Given the description of an element on the screen output the (x, y) to click on. 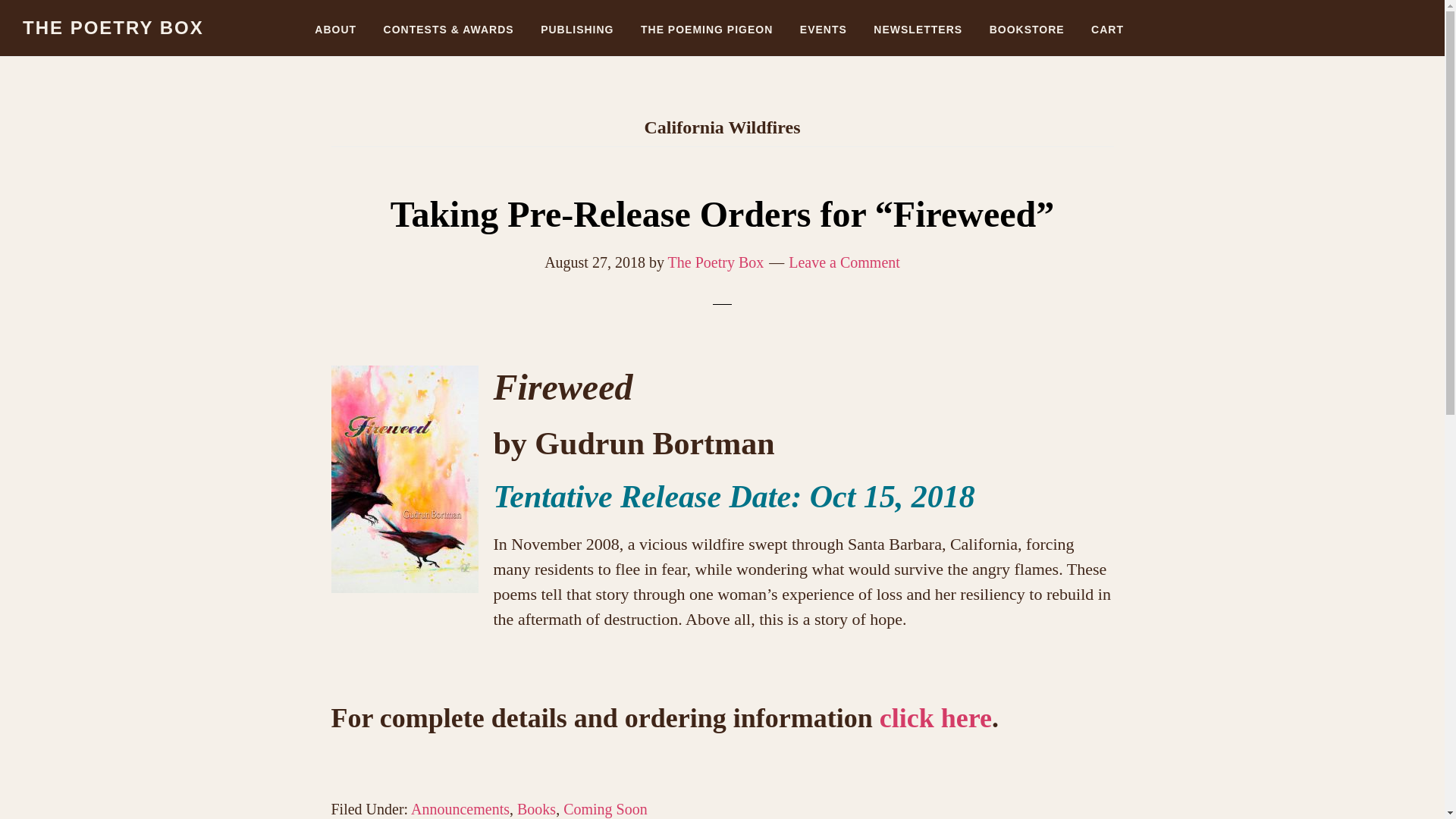
PUBLISHING (576, 22)
BOOKSTORE (1026, 22)
CART (1107, 22)
EVENTS (824, 22)
The Poetry Box (716, 262)
THE POEMING PIGEON (706, 22)
THE POETRY BOX (113, 27)
ABOUT (335, 22)
NEWSLETTERS (917, 22)
